Given the description of an element on the screen output the (x, y) to click on. 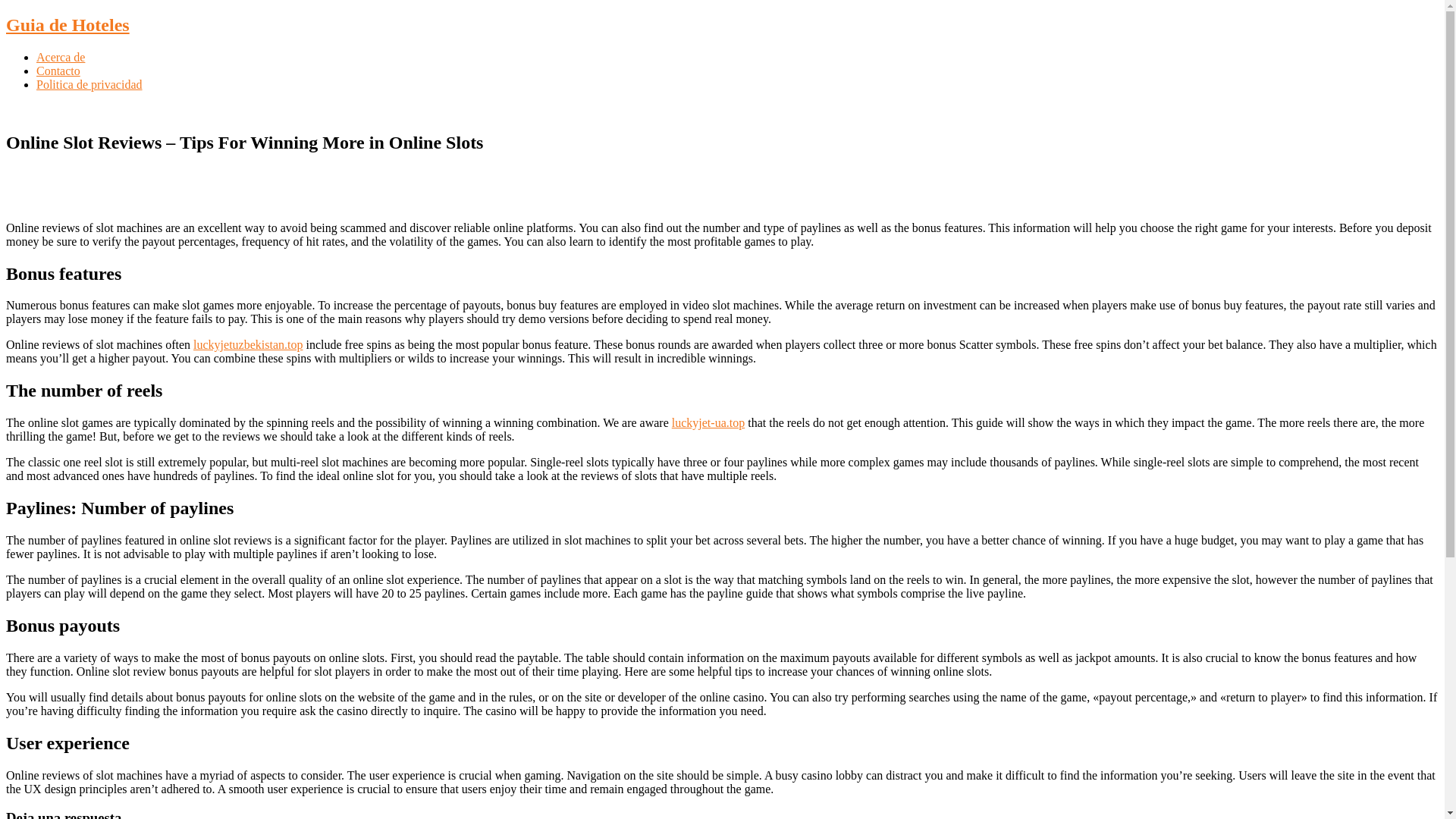
Contacto (58, 70)
Politica de privacidad (89, 83)
luckyjetuzbekistan.top (247, 344)
luckyjet-ua.top (707, 422)
Acerca de (60, 56)
